Given the description of an element on the screen output the (x, y) to click on. 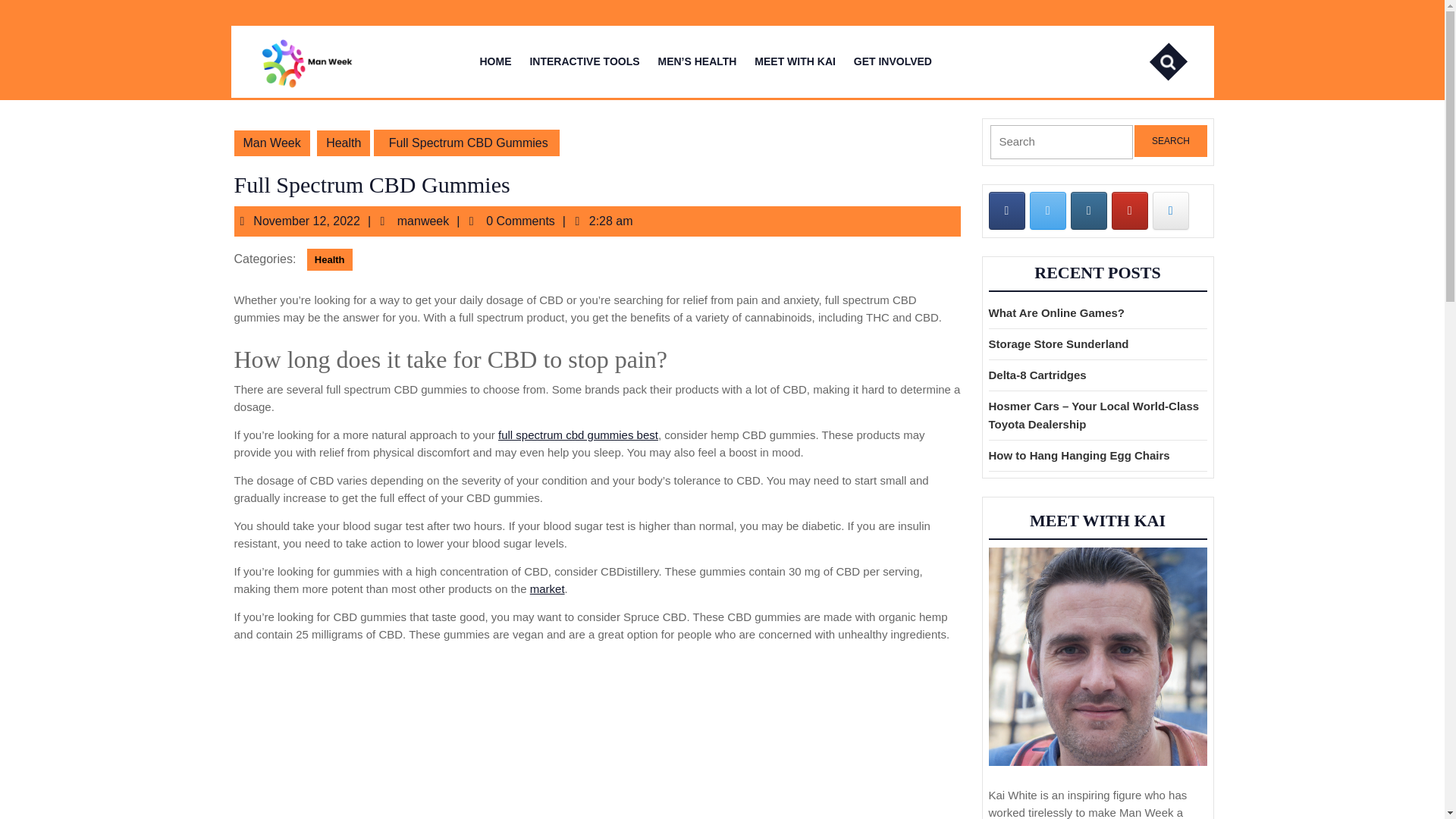
Search (1170, 141)
Search (1178, 62)
Man Week on Instagram (1088, 210)
Search (1178, 62)
Man Week on Facebook (427, 220)
Health (1006, 210)
market (329, 259)
full spectrum cbd gummies best (546, 588)
What Are Online Games? (577, 434)
Search (1056, 312)
GET INVOLVED (1170, 141)
HOME (892, 60)
Man Week on Youtube (494, 60)
Search (1130, 210)
